Given the description of an element on the screen output the (x, y) to click on. 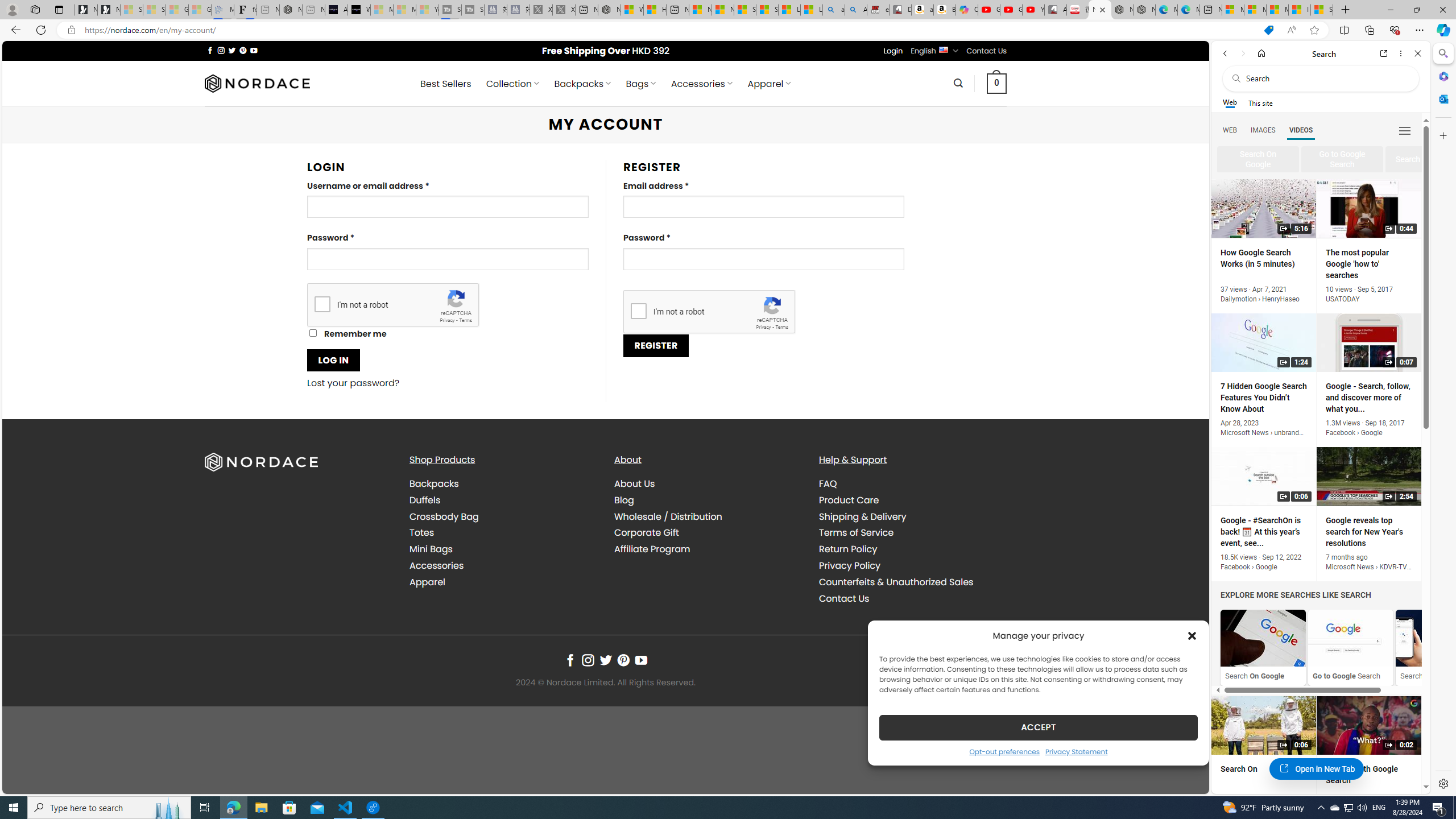
Remember me (312, 333)
English (943, 49)
Affiliate Program (652, 549)
Terms (781, 326)
Nordace - My Account (1099, 9)
Follow on YouTube (640, 659)
Outlook (1442, 98)
Follow on Instagram (588, 659)
Home (1261, 53)
Privacy Policy (912, 565)
